Given the description of an element on the screen output the (x, y) to click on. 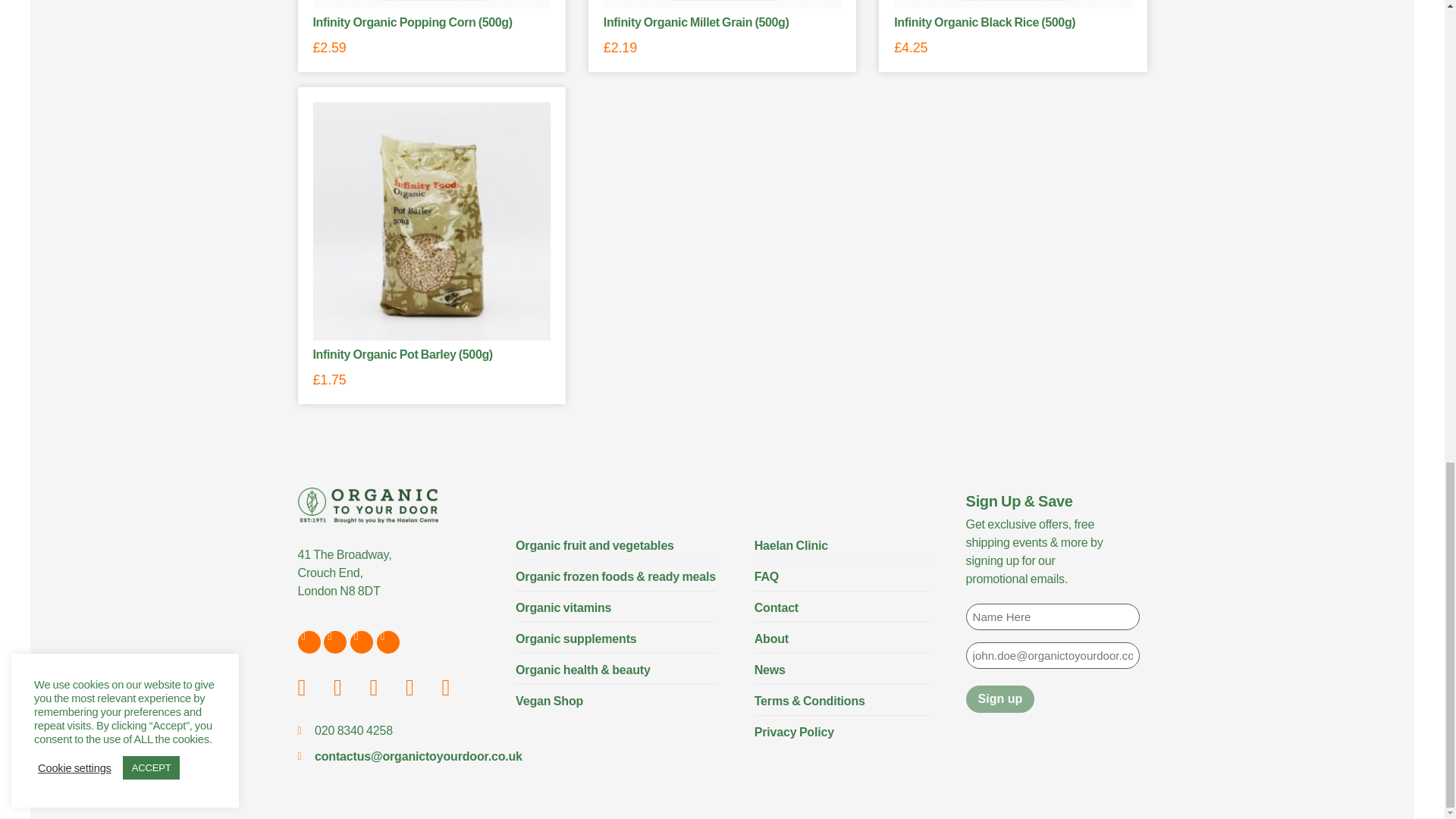
Sign up (1000, 698)
